Given the description of an element on the screen output the (x, y) to click on. 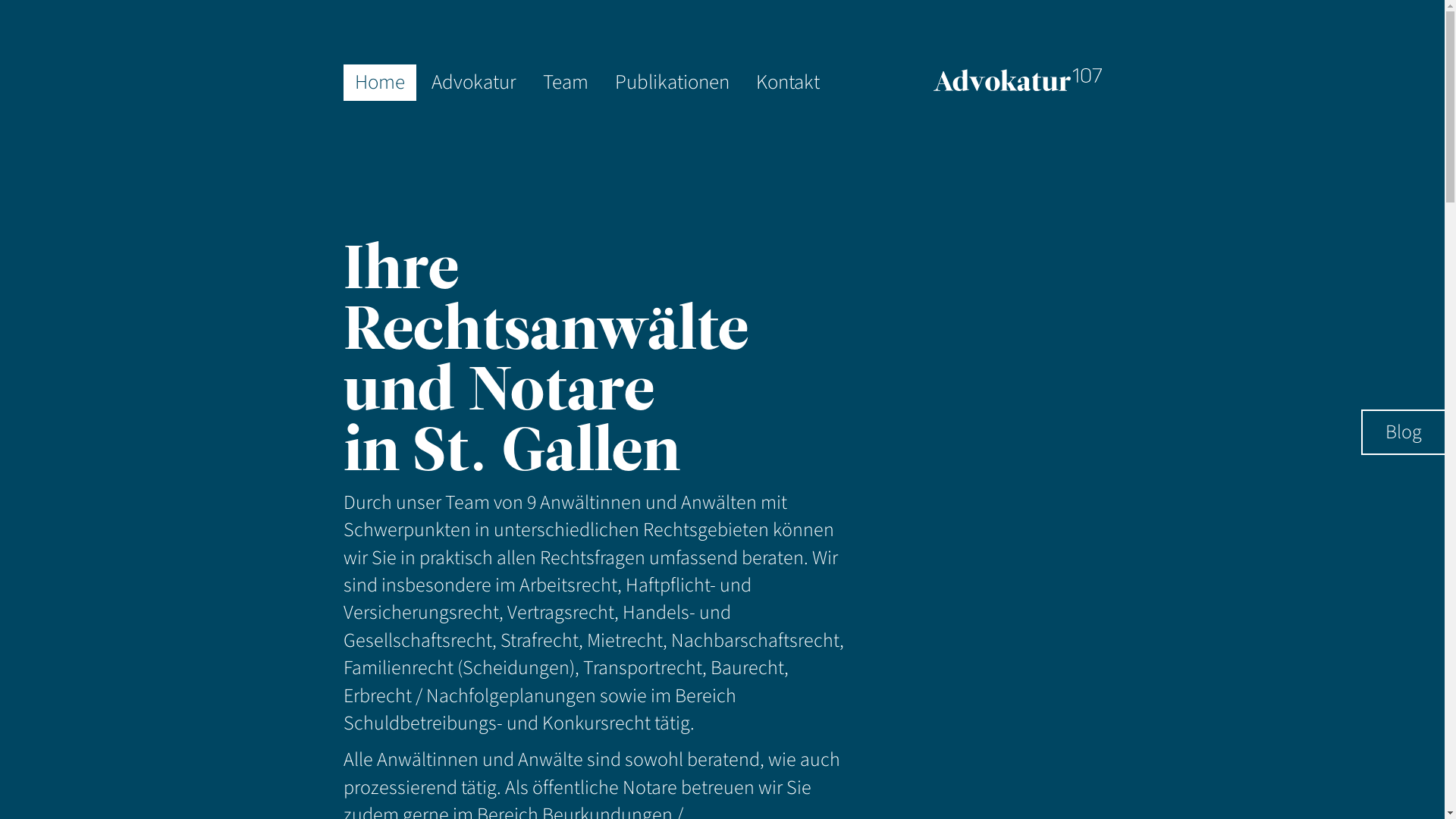
Kontakt Element type: text (787, 82)
Team Element type: text (564, 82)
Blog Element type: text (1403, 432)
Publikationen Element type: text (671, 82)
Advokatur Element type: text (473, 82)
